Given the description of an element on the screen output the (x, y) to click on. 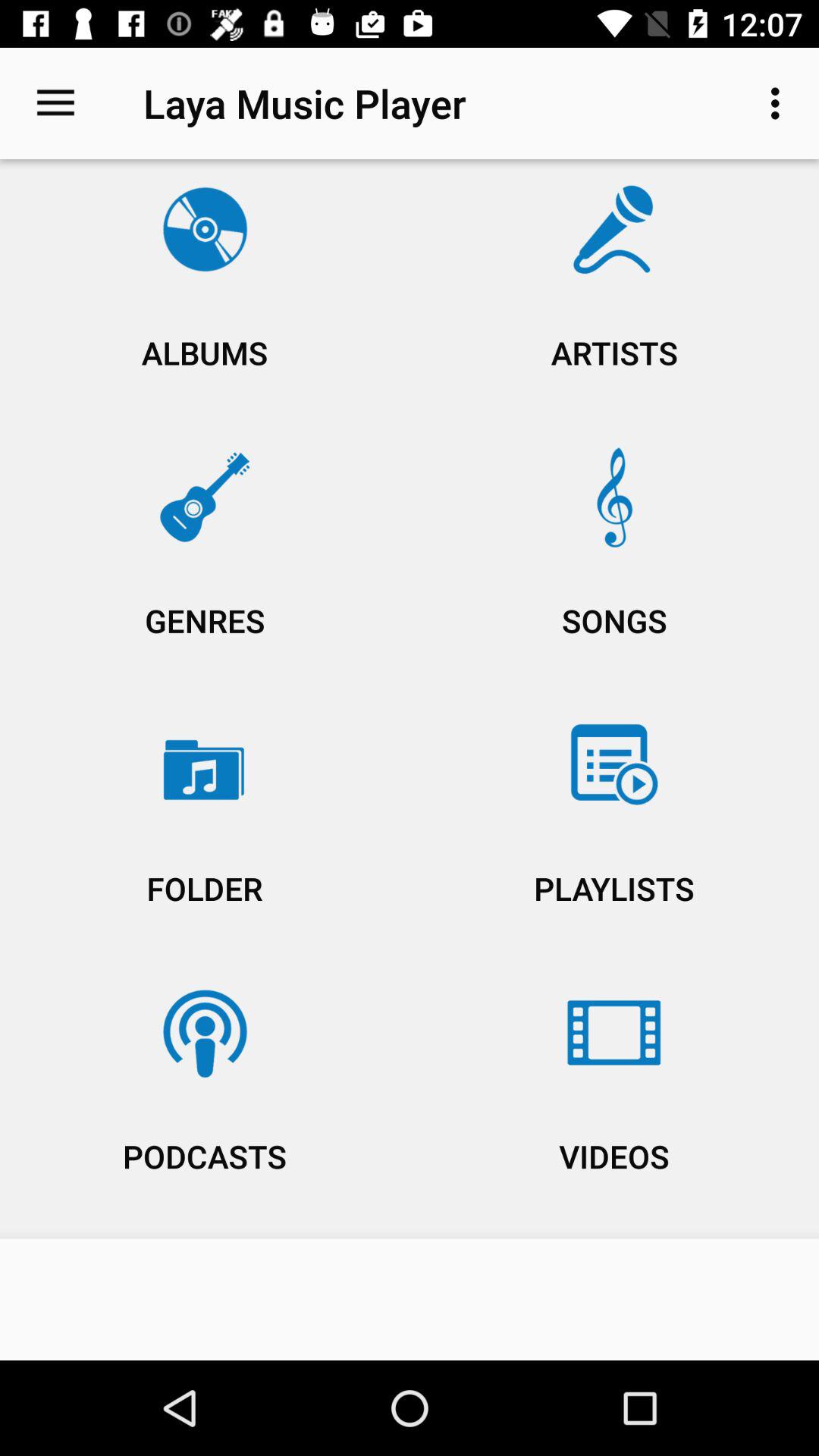
choose the item next to artists icon (204, 297)
